Given the description of an element on the screen output the (x, y) to click on. 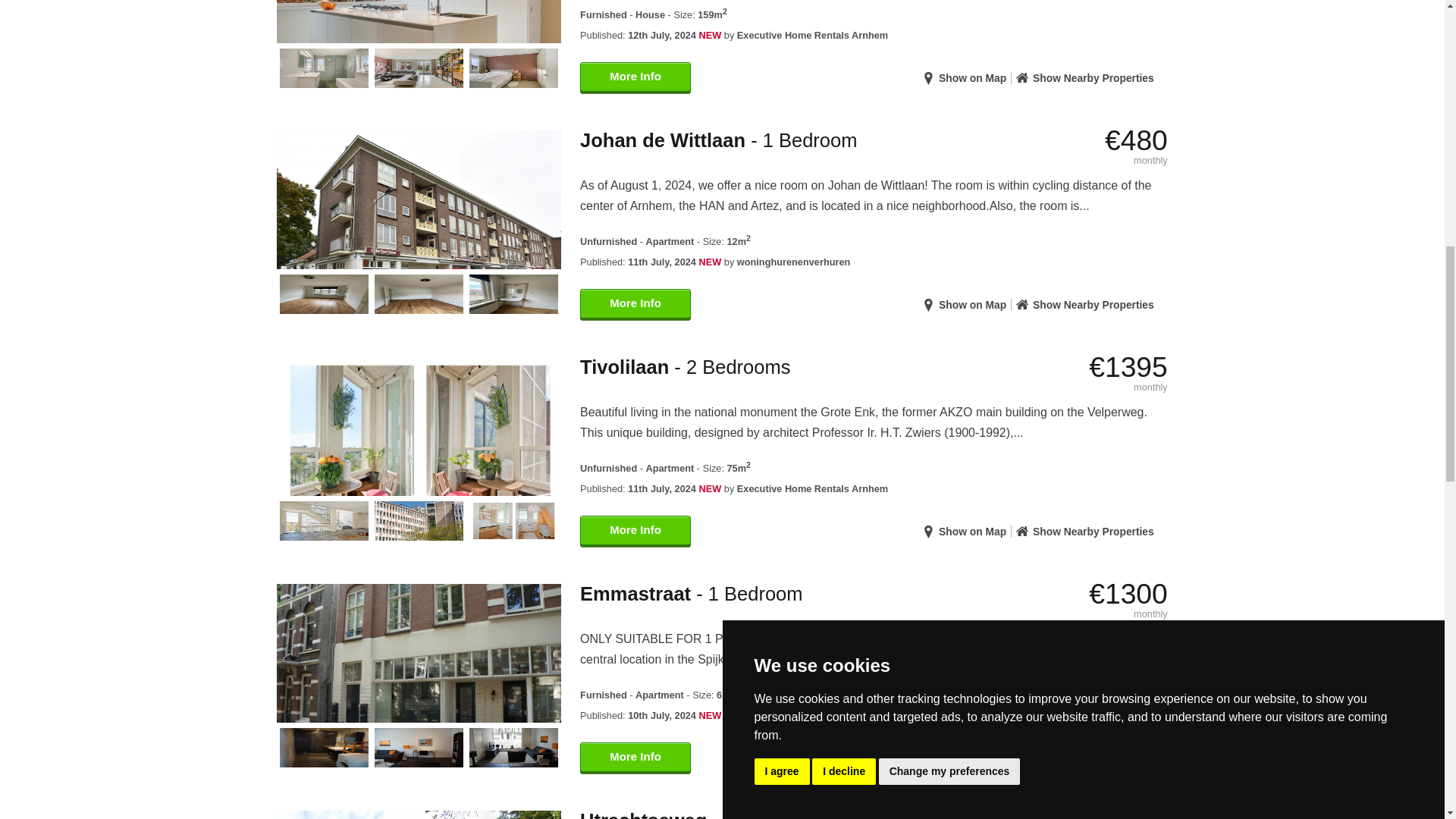
More Info (634, 305)
Show Nearby Properties (1092, 78)
Show on Map (972, 304)
Johan de Wittlaan - 1 Bedroom (718, 139)
More Info (634, 78)
Show on Map (972, 78)
